Given the description of an element on the screen output the (x, y) to click on. 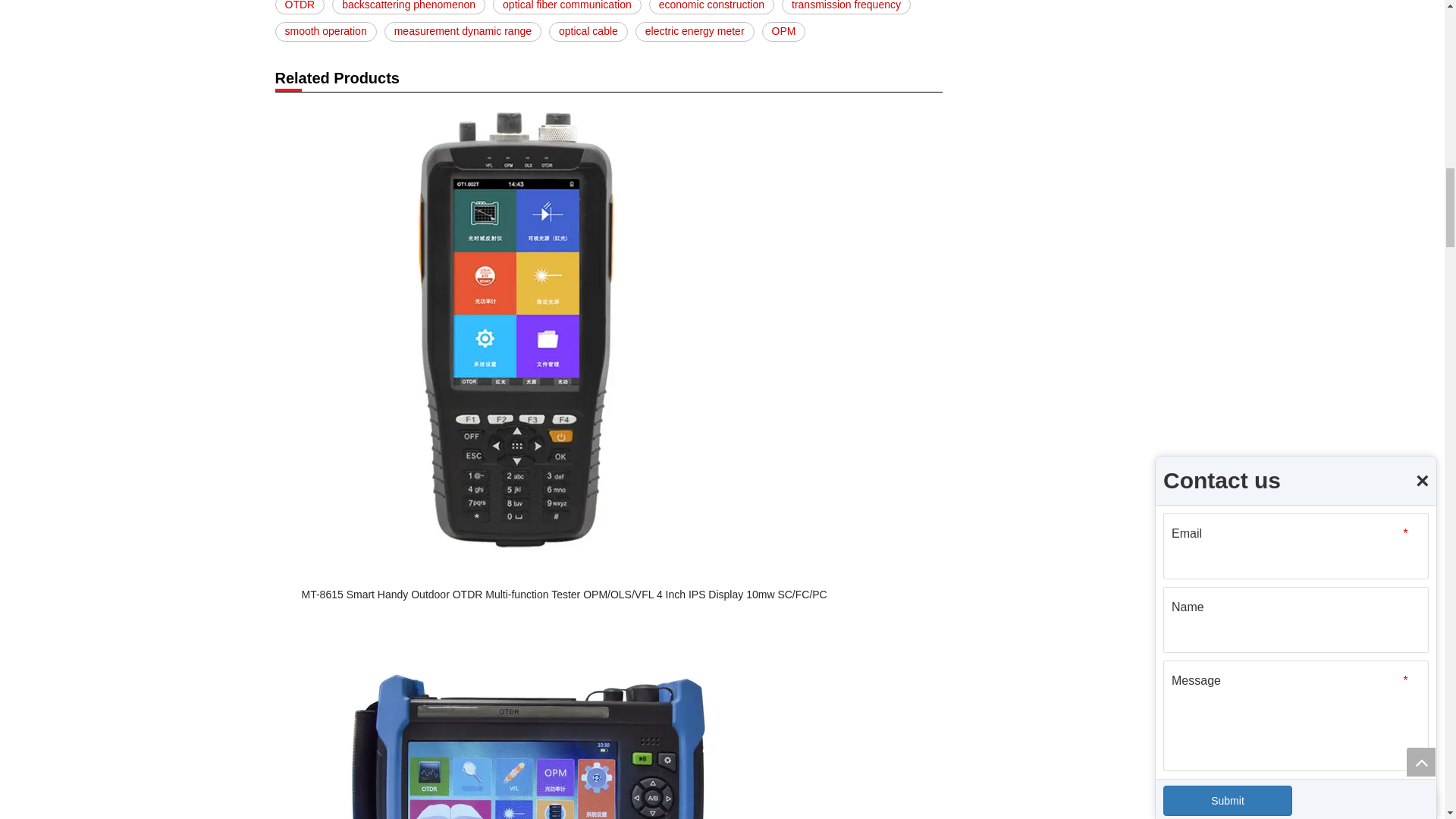
backscattering phenomenon (407, 7)
economic construction (711, 7)
smooth operation (325, 31)
OTDR (299, 7)
transmission frequency (846, 7)
measurement dynamic range (462, 31)
optical cable (587, 31)
electric energy meter (694, 31)
OPM (783, 31)
optical fiber communication (567, 7)
